Given the description of an element on the screen output the (x, y) to click on. 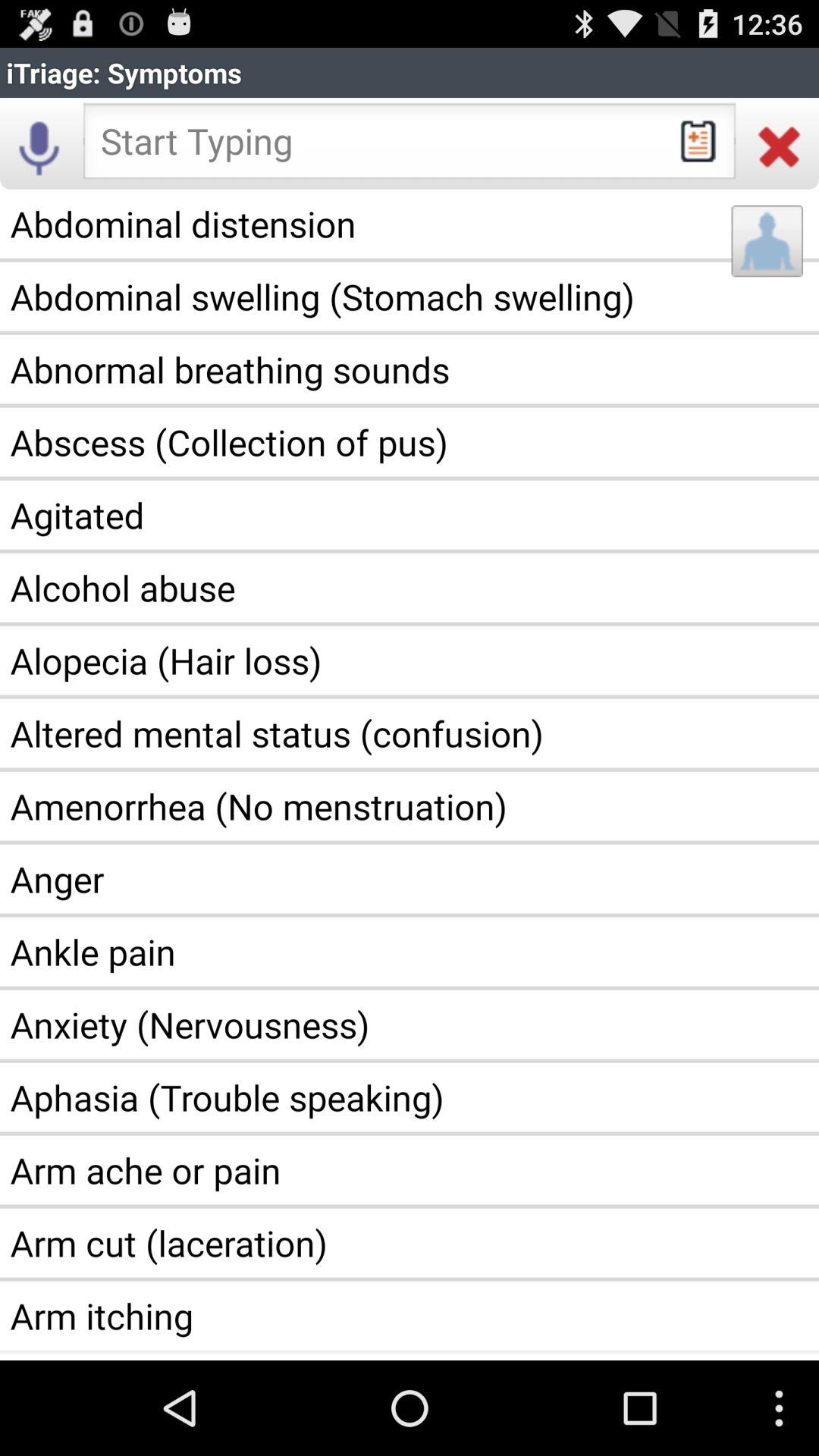
tap the icon below agitated (409, 587)
